Given the description of an element on the screen output the (x, y) to click on. 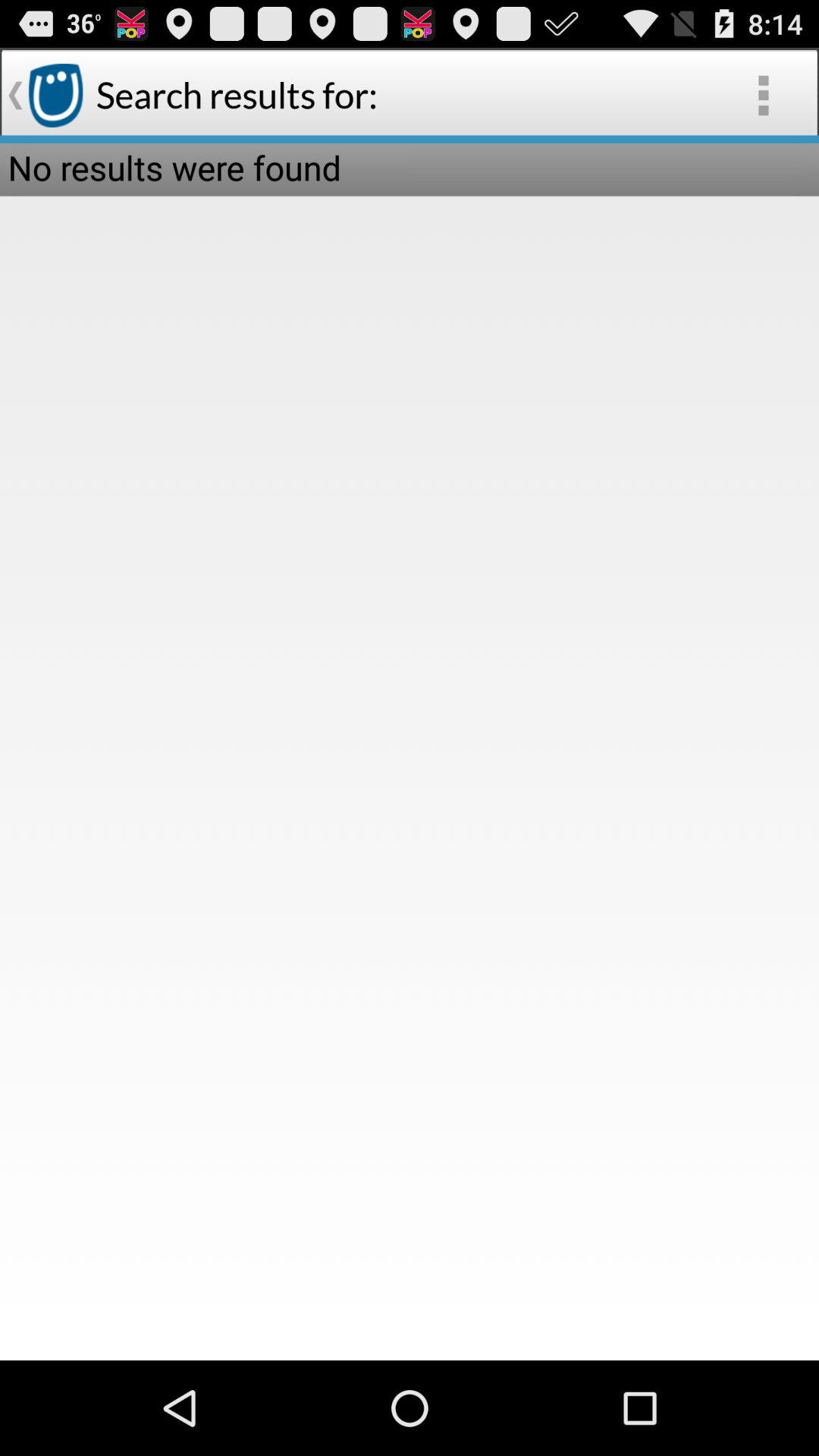
open item below the no results were icon (409, 728)
